Given the description of an element on the screen output the (x, y) to click on. 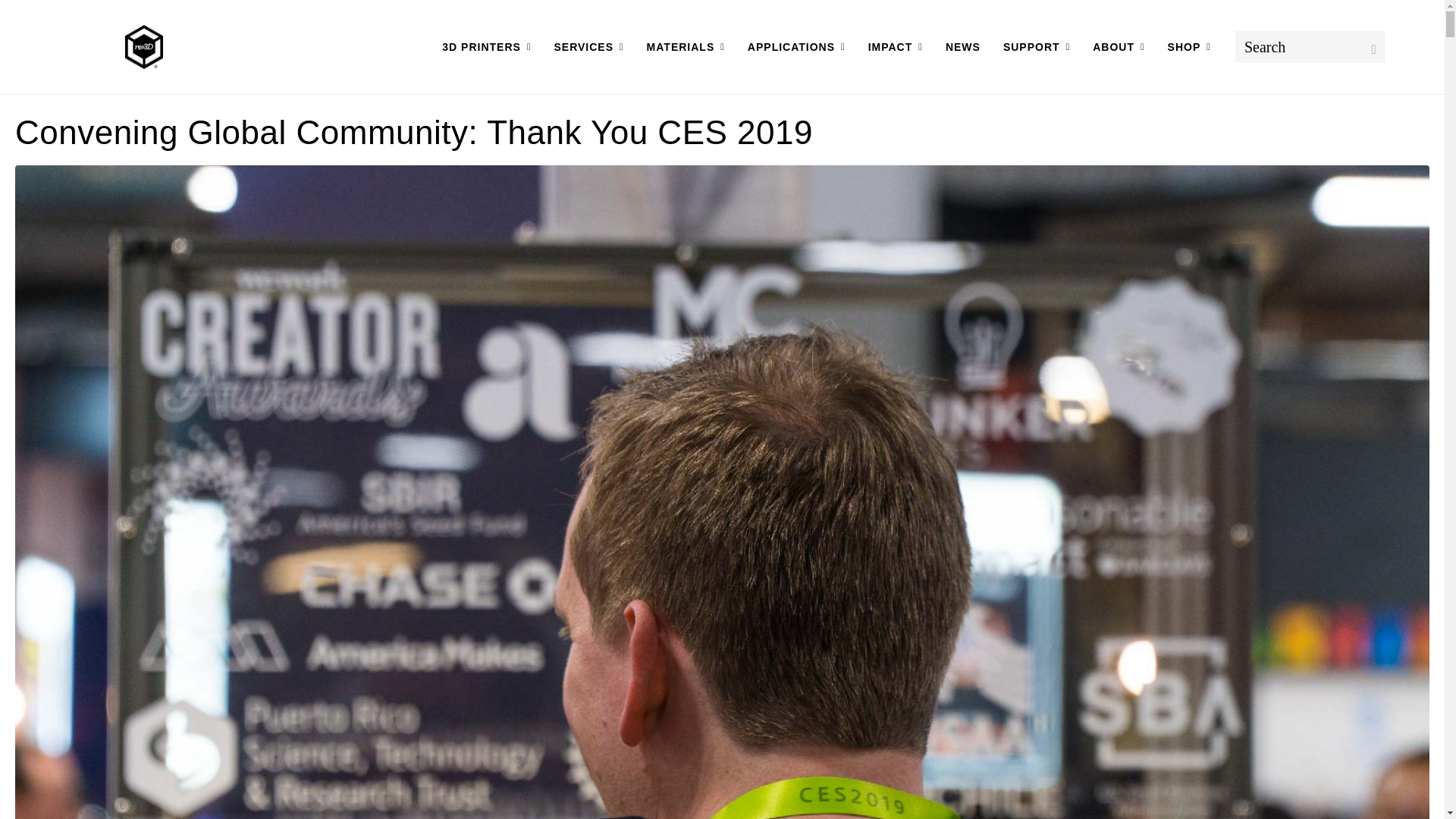
Convening Global Community: Thank You CES 2019 (413, 131)
SERVICES (587, 47)
Convening Global Community: Thank You CES 2019 (721, 605)
APPLICATIONS (796, 47)
MATERIALS (685, 47)
3D PRINTERS (485, 47)
